Given the description of an element on the screen output the (x, y) to click on. 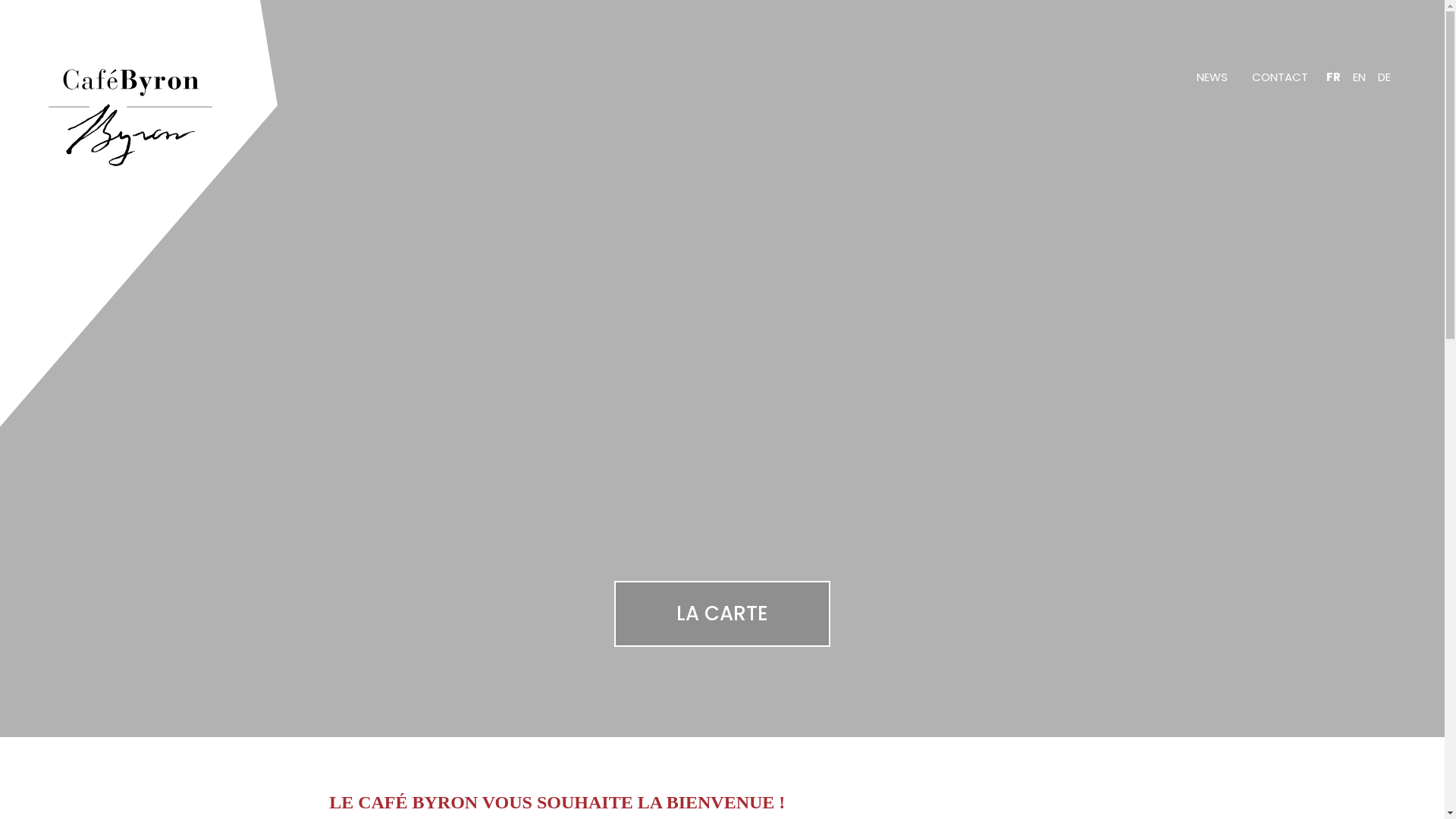
EN Element type: text (1358, 77)
DE Element type: text (1383, 77)
FR Element type: text (1333, 77)
LA CARTE Element type: text (722, 613)
NEWS Element type: text (1211, 77)
CONTACT Element type: text (1280, 77)
